Given the description of an element on the screen output the (x, y) to click on. 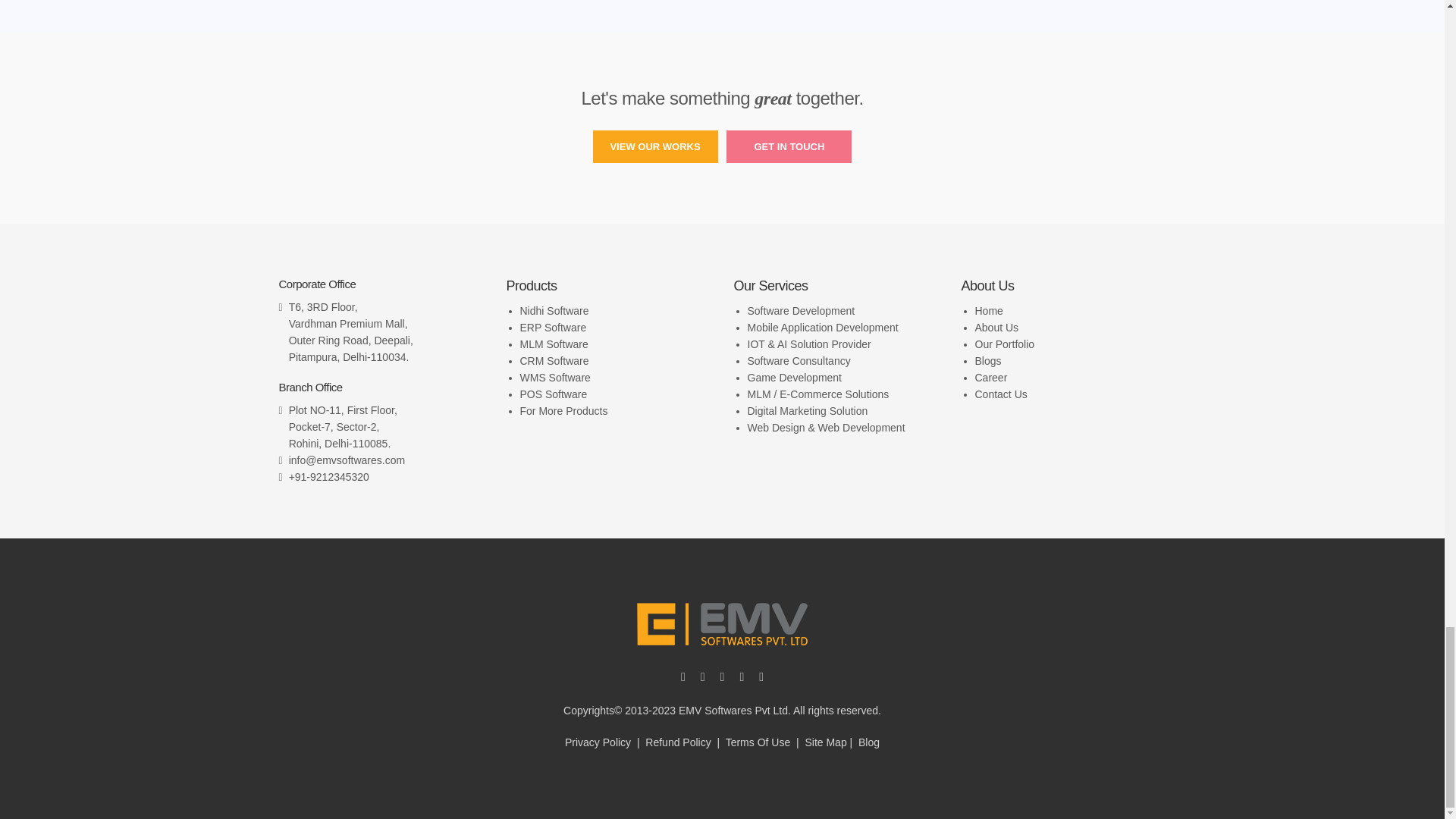
ERP Software (552, 327)
GET IN TOUCH (788, 146)
VIEW OUR WORKS (654, 146)
Nidhi Software (554, 310)
